Given the description of an element on the screen output the (x, y) to click on. 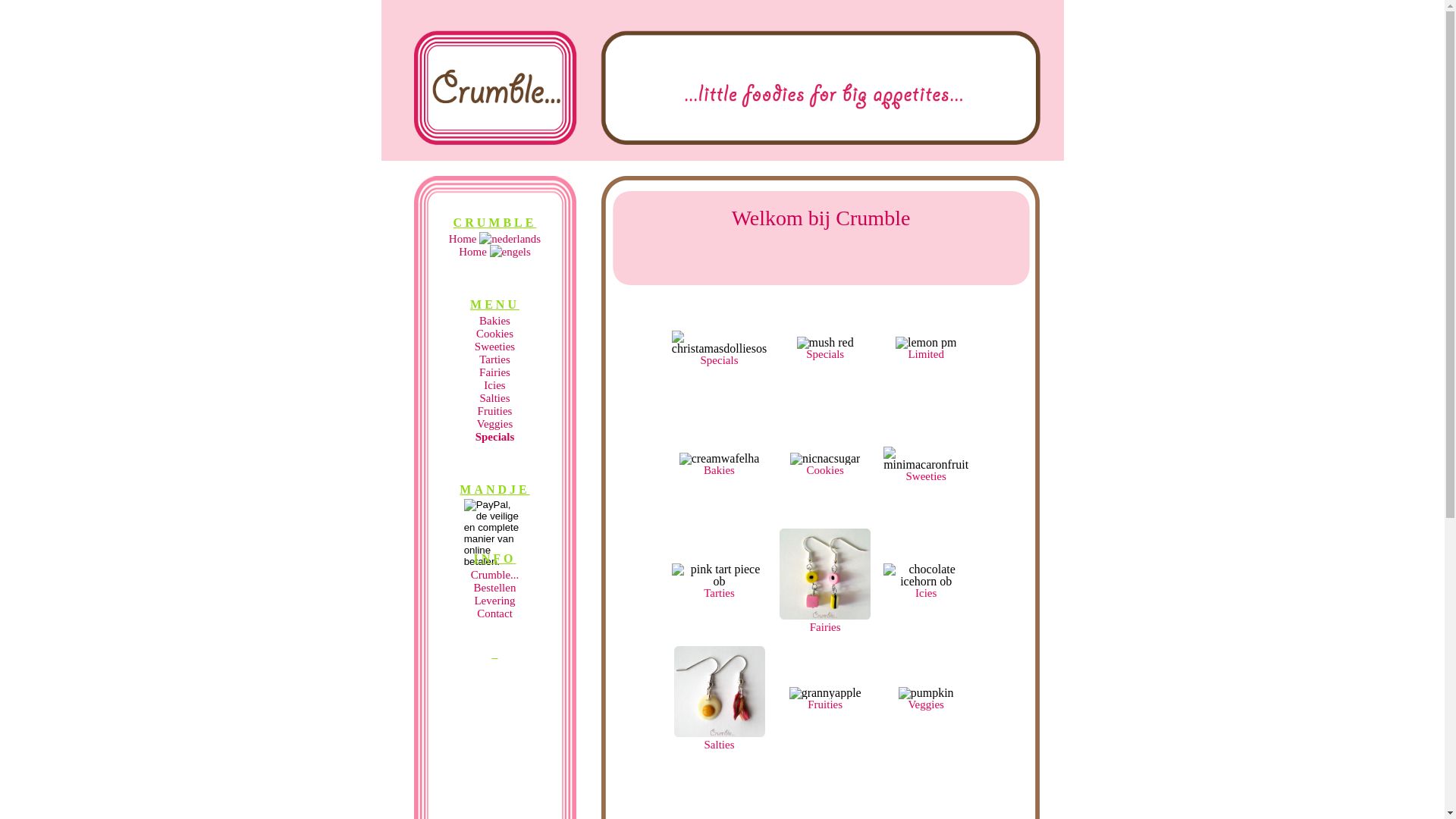
Icies Element type: text (941, 598)
Veggies Element type: text (930, 709)
Tarties Element type: text (734, 598)
Cookies Element type: text (833, 475)
Specials Element type: text (829, 359)
Home Element type: text (473, 251)
Fruities Element type: text (494, 410)
Bakies Element type: text (494, 320)
Specials Element type: text (733, 365)
Icies Element type: text (494, 385)
Cookies Element type: text (494, 333)
Fairies Element type: text (839, 632)
Veggies Element type: text (494, 423)
Crumble... Element type: text (494, 574)
Specials Element type: text (494, 436)
Bestellen Element type: text (494, 587)
Salties Element type: text (734, 750)
Tarties Element type: text (494, 359)
Fruities Element type: text (833, 709)
Fairies Element type: text (494, 372)
Limited Element type: text (931, 359)
Sweeties Element type: text (494, 346)
Home Element type: text (463, 238)
Sweeties Element type: text (936, 481)
Levering Element type: text (493, 600)
Contact Element type: text (494, 613)
Salties Element type: text (494, 398)
Bakies Element type: text (731, 475)
